Given the description of an element on the screen output the (x, y) to click on. 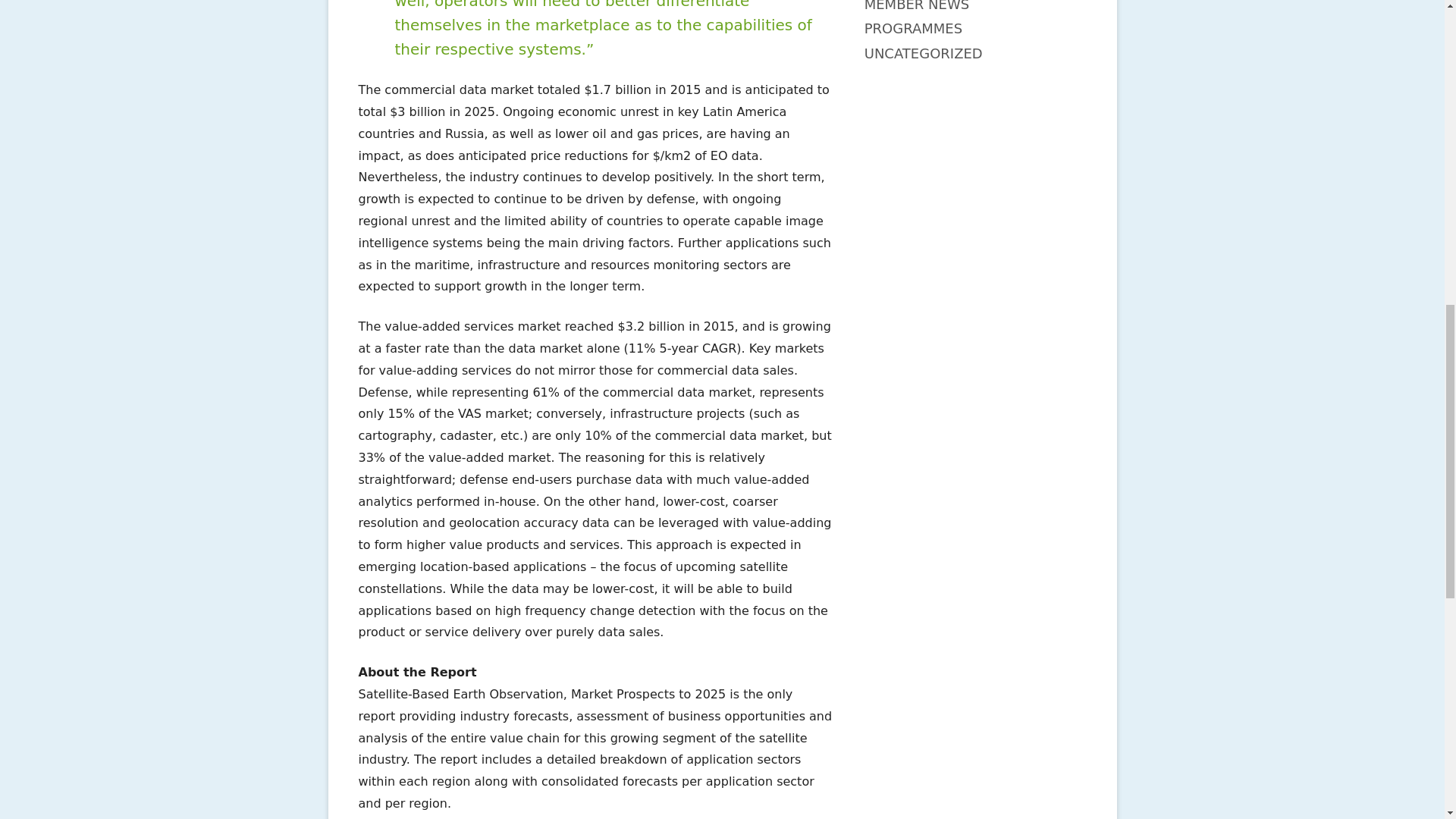
MEMBER NEWS (916, 6)
PROGRAMMES (913, 28)
UNCATEGORIZED (923, 53)
